Given the description of an element on the screen output the (x, y) to click on. 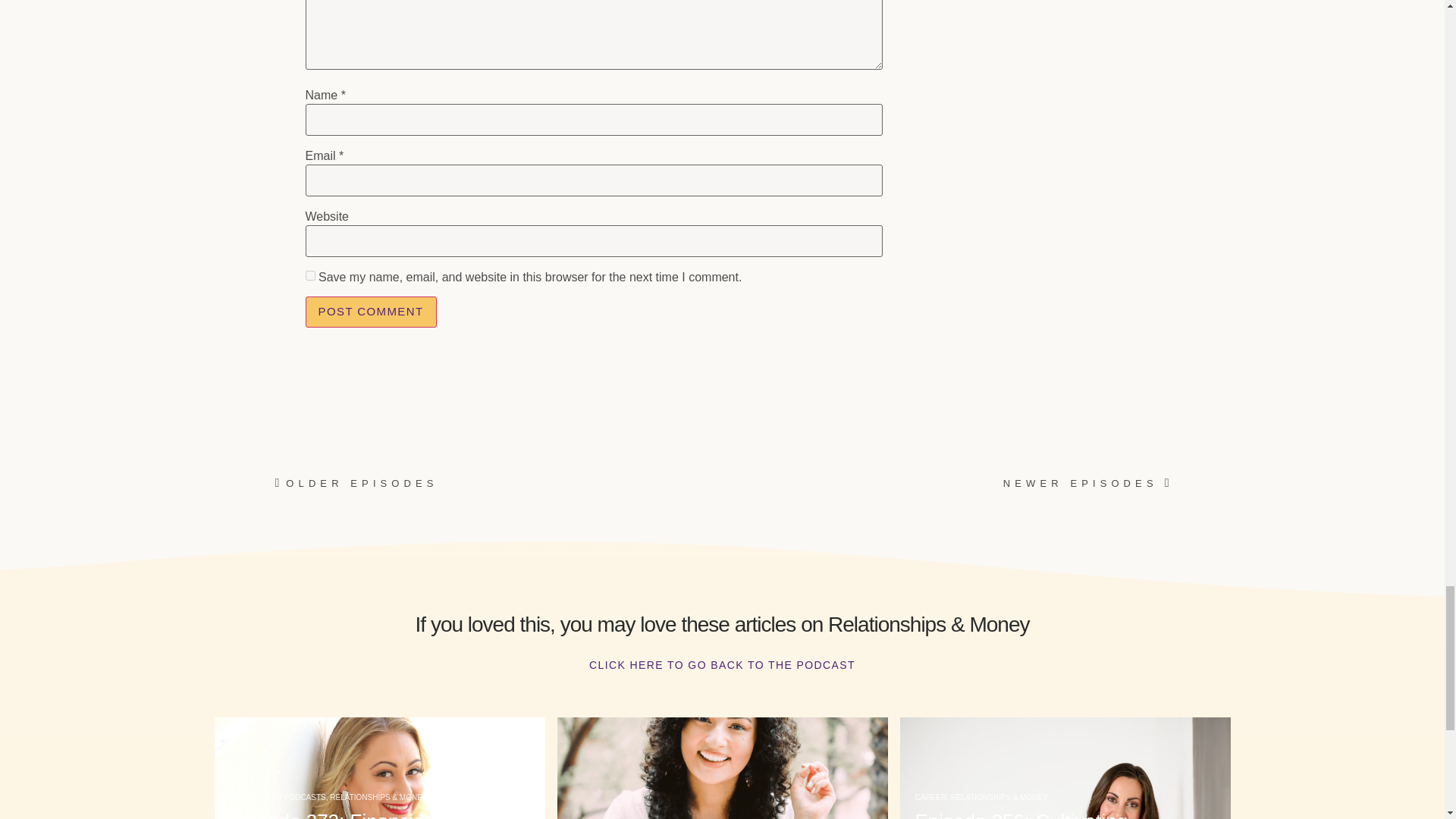
Post Comment (369, 311)
yes (309, 275)
